Given the description of an element on the screen output the (x, y) to click on. 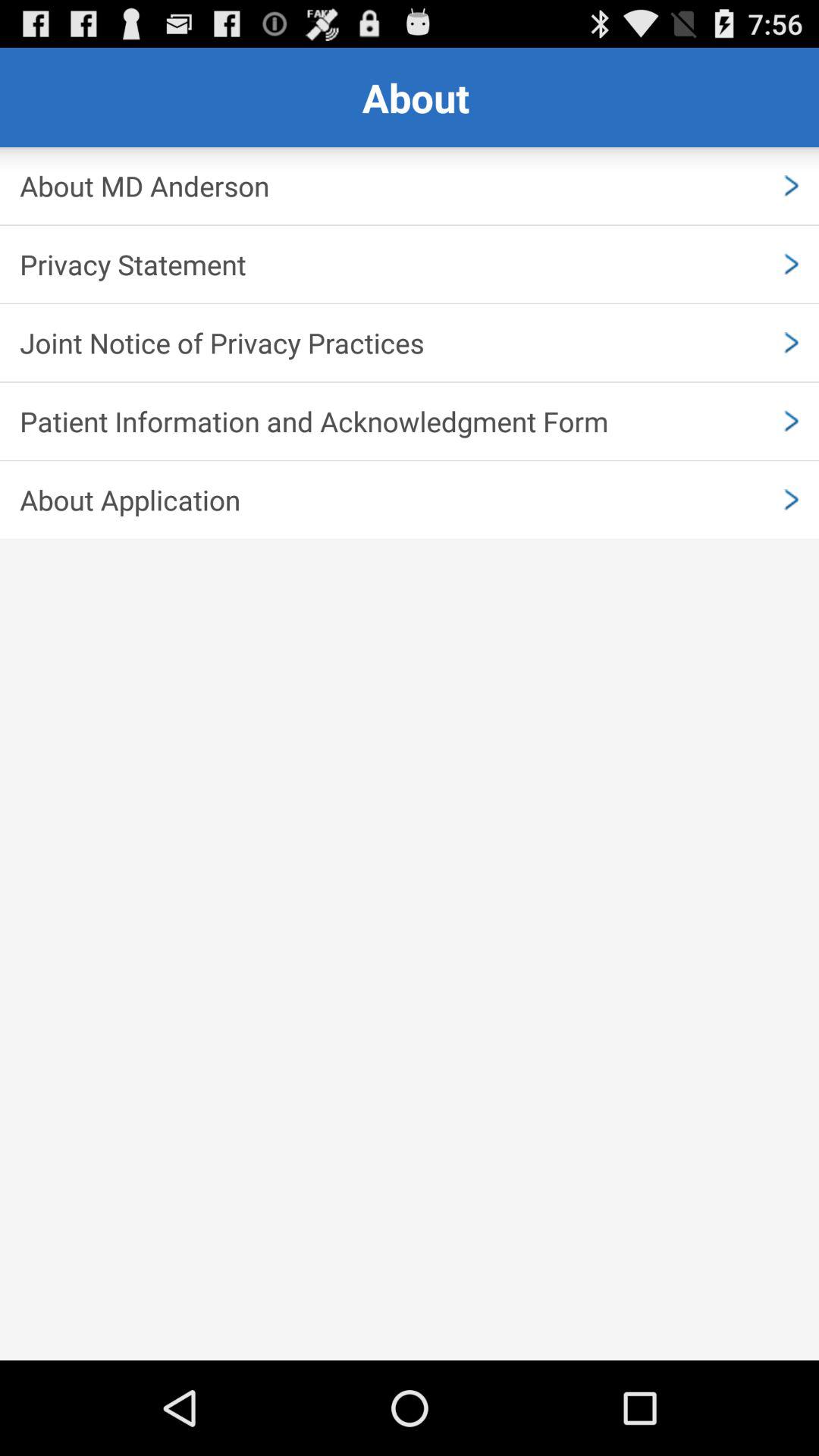
jump to privacy statement (409, 264)
